Given the description of an element on the screen output the (x, y) to click on. 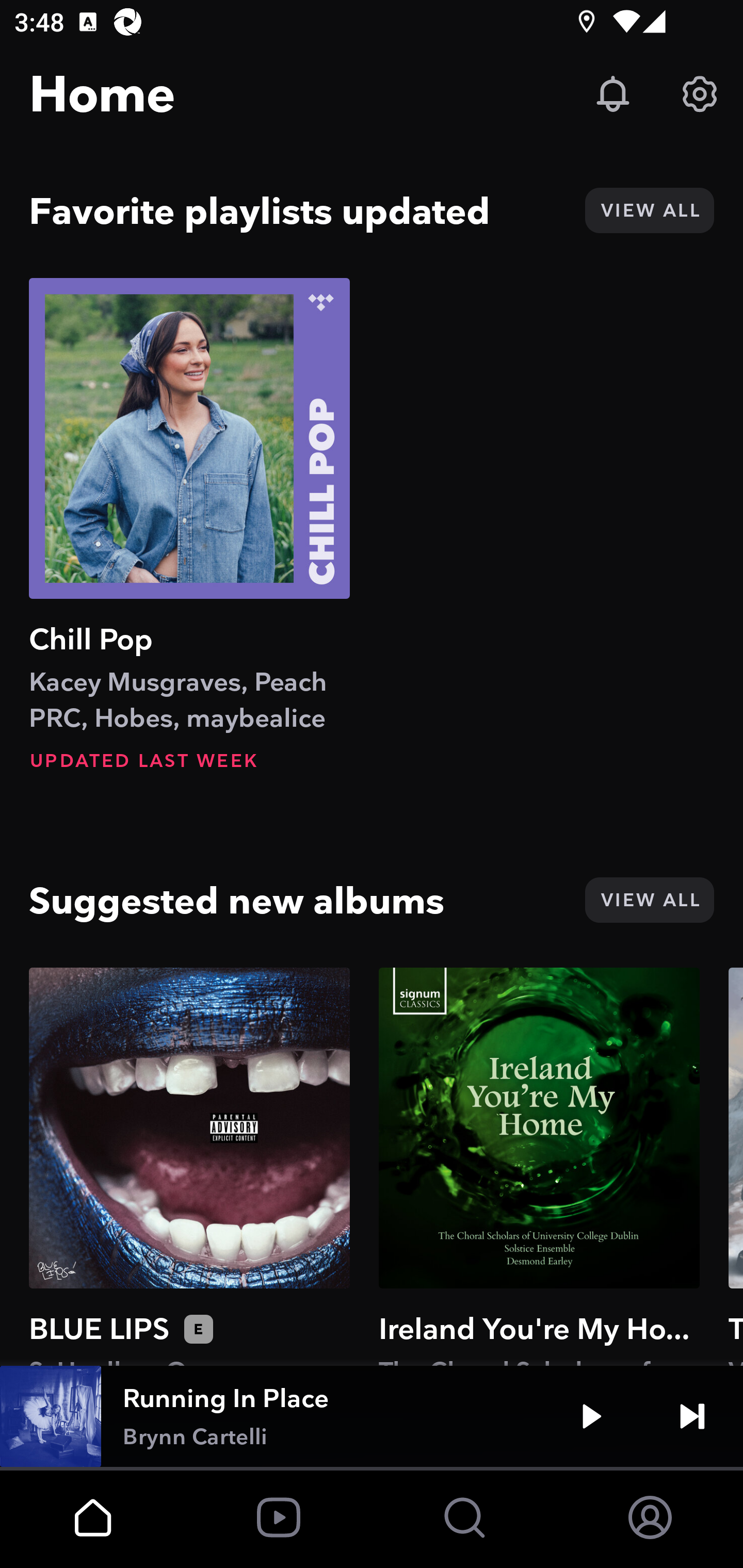
Updates (612, 93)
Settings (699, 93)
VIEW ALL (649, 210)
VIEW ALL (649, 899)
BLUE LIPS ScHoolboy Q (188, 1166)
Running In Place Brynn Cartelli Play (371, 1416)
Play (590, 1416)
